Given the description of an element on the screen output the (x, y) to click on. 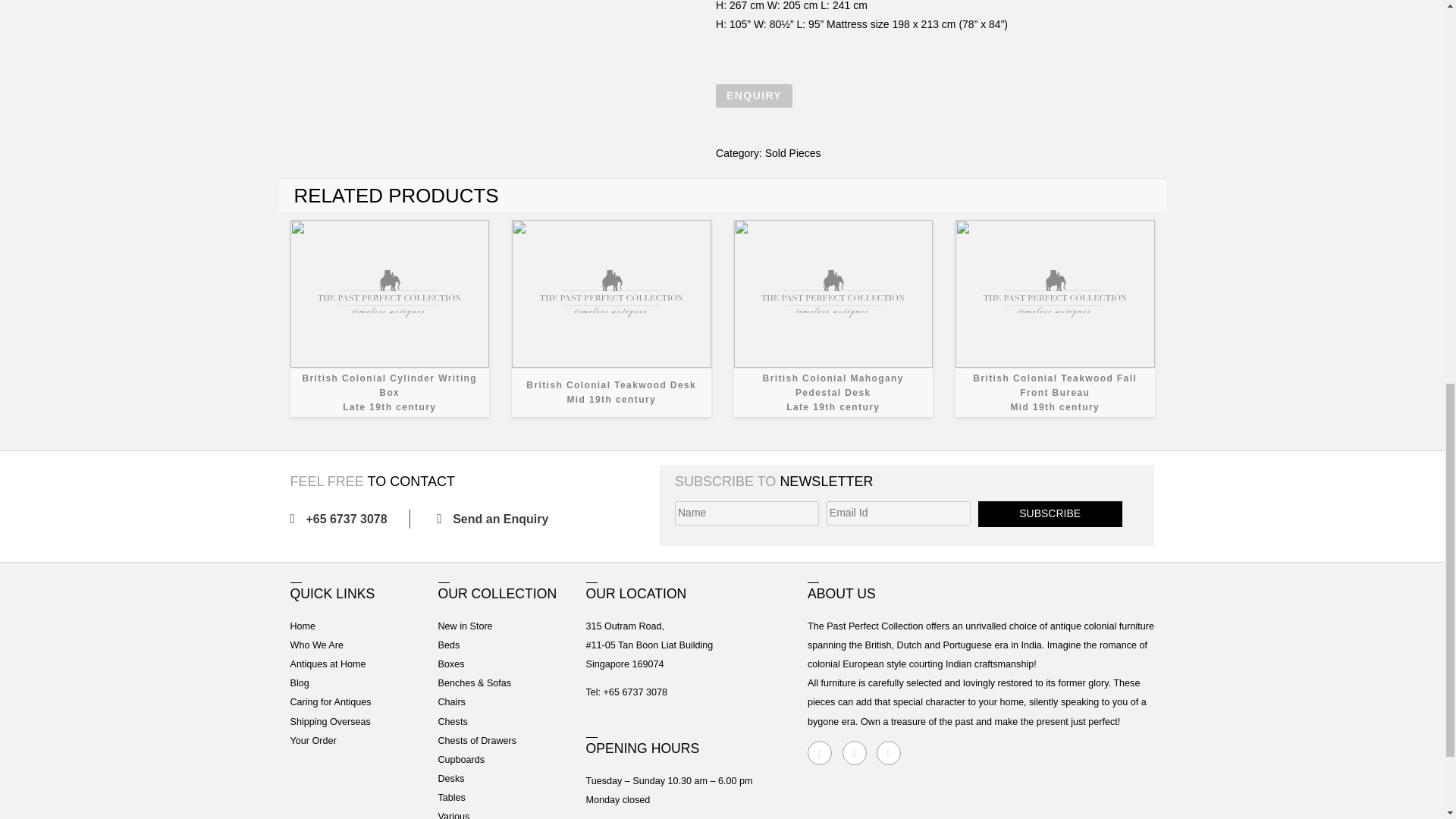
ENQUIRY (754, 95)
Send an Enquiry (611, 318)
Sold Pieces (1054, 318)
SUBSCRIBE (497, 518)
